Given the description of an element on the screen output the (x, y) to click on. 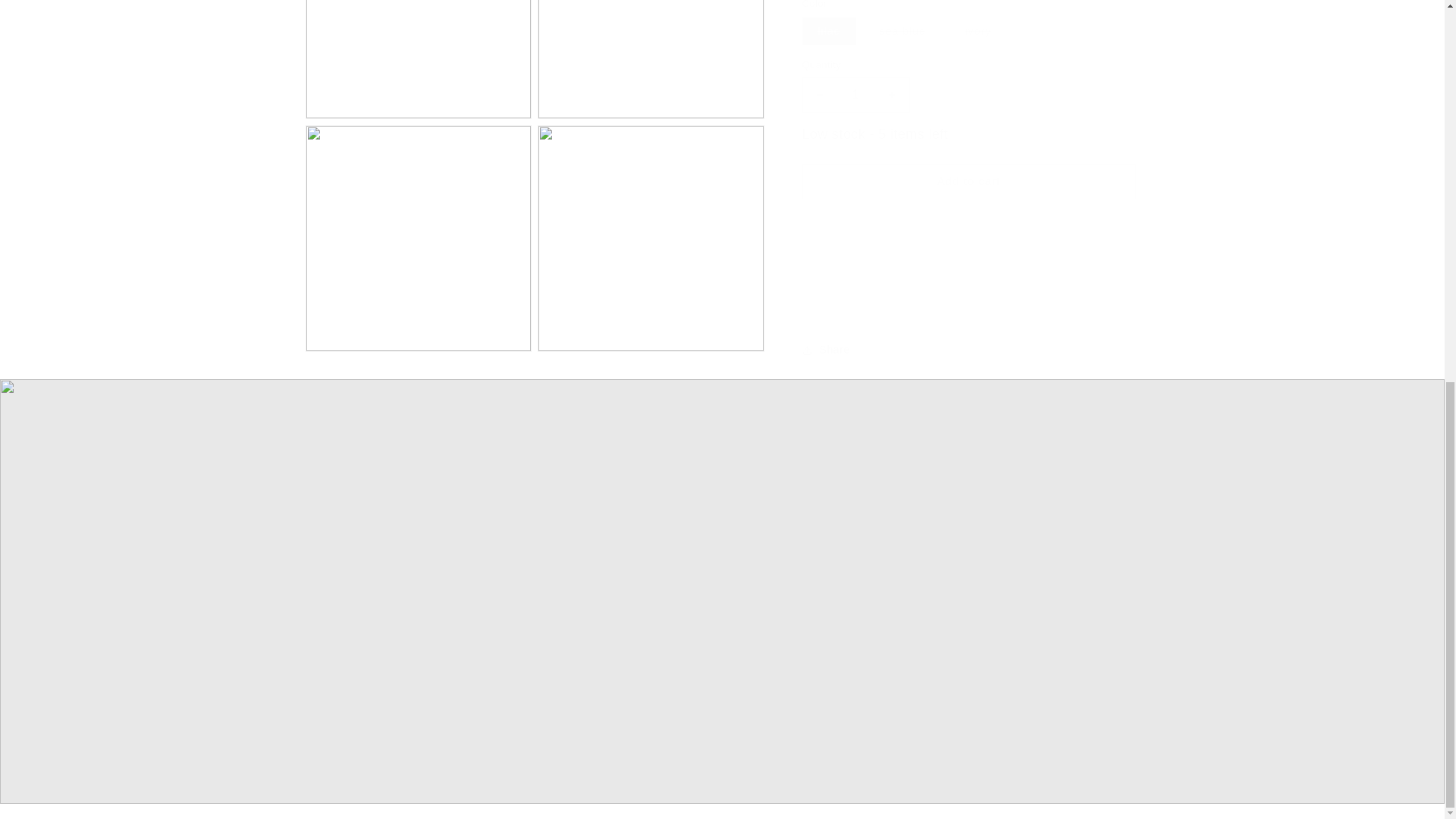
Open media 5 in modal (650, 222)
Open media 3 in modal (650, 52)
Open media 2 in modal (417, 52)
Open media 4 in modal (417, 222)
